Given the description of an element on the screen output the (x, y) to click on. 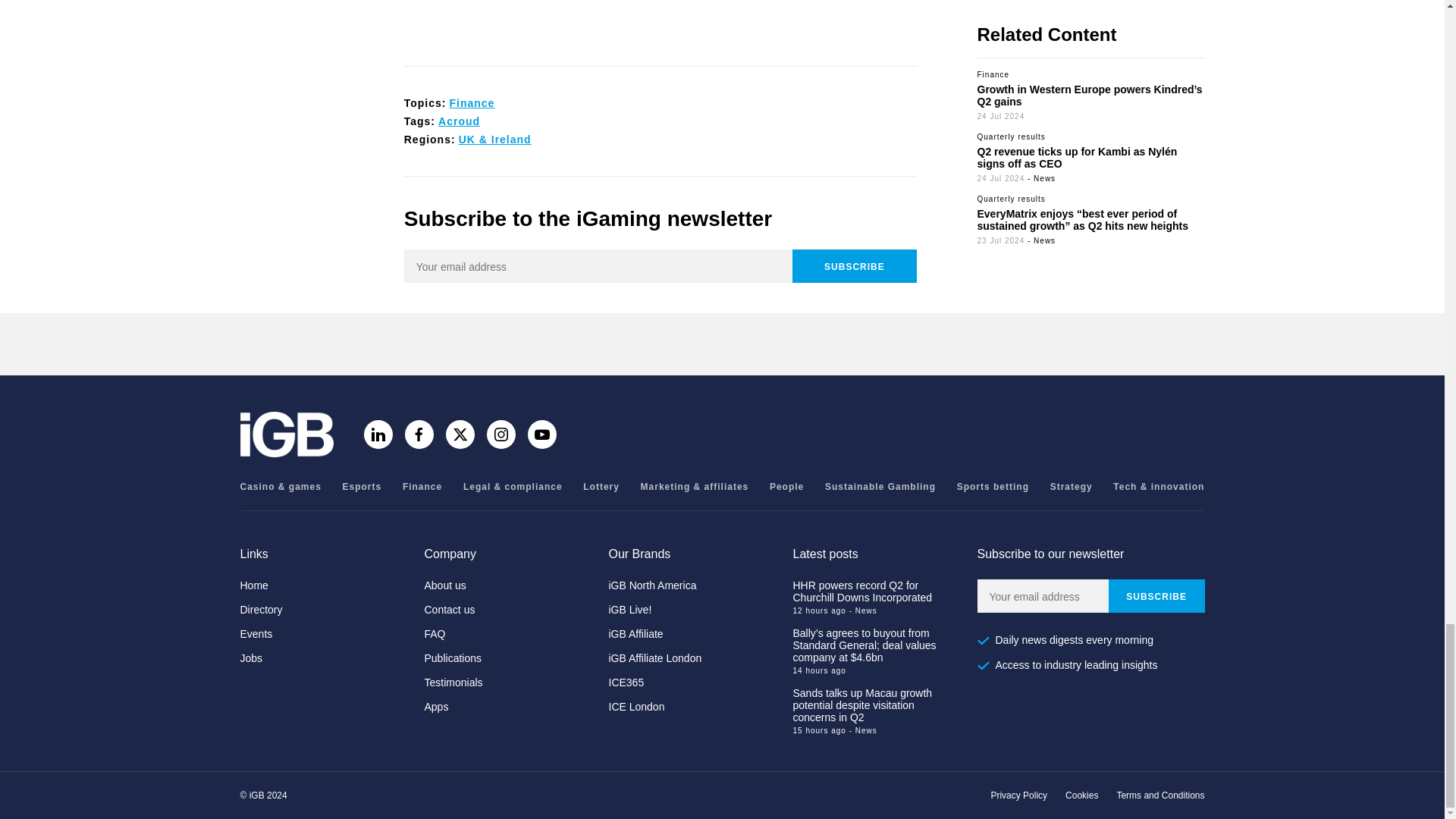
Subscribe (853, 265)
Subscribe (1156, 595)
